Given the description of an element on the screen output the (x, y) to click on. 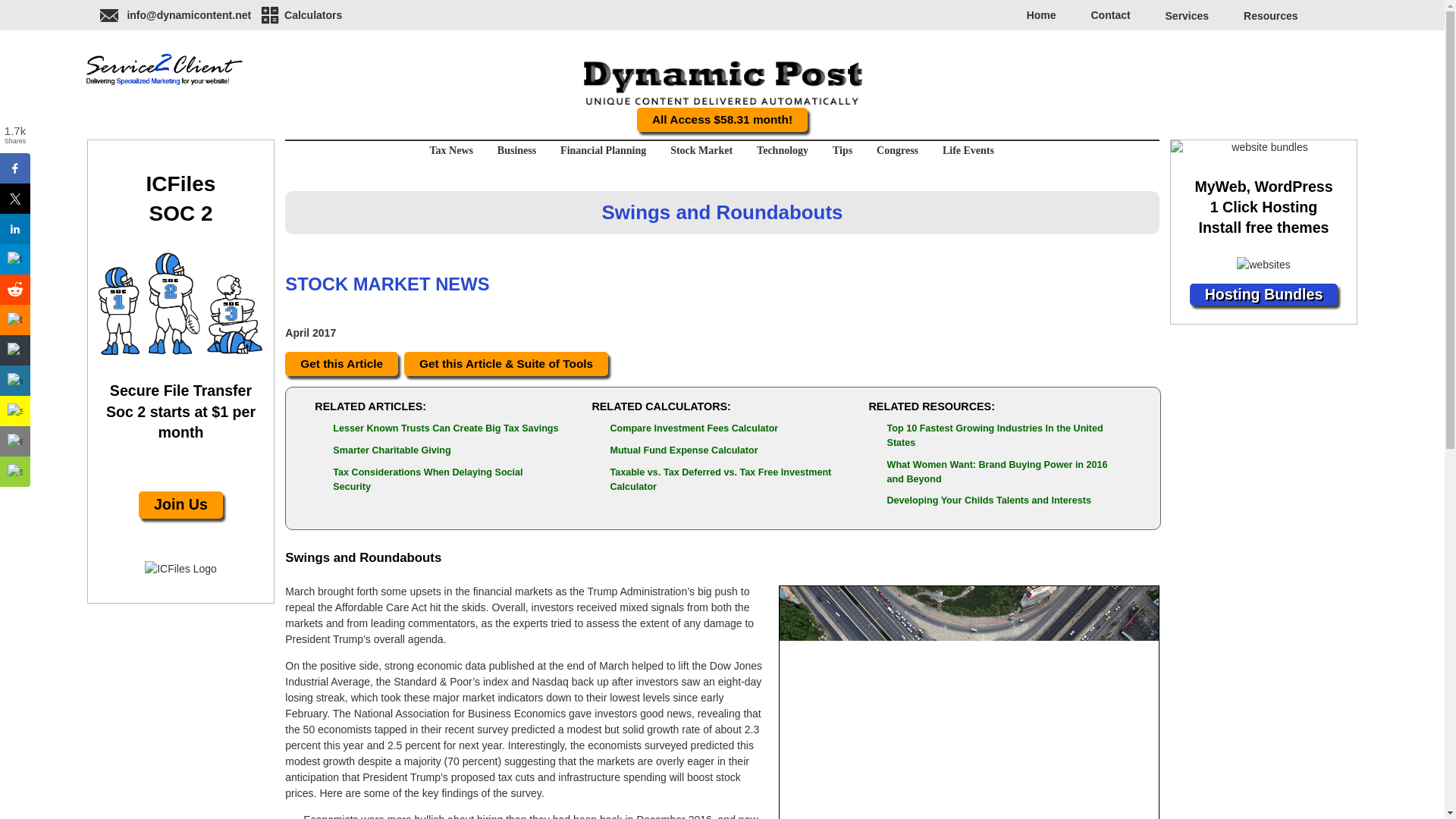
 Calculators (300, 14)
Technology (781, 150)
Mutual Fund Expense Calculator (683, 450)
Life Events (962, 150)
Top 10 Fastest Growing Industries In the United States (994, 435)
Financial Planning (603, 150)
Lesser Known Trusts Can Create Big Tax Savings (445, 428)
Congress (897, 150)
Business (516, 150)
Get this Article (341, 363)
